Given the description of an element on the screen output the (x, y) to click on. 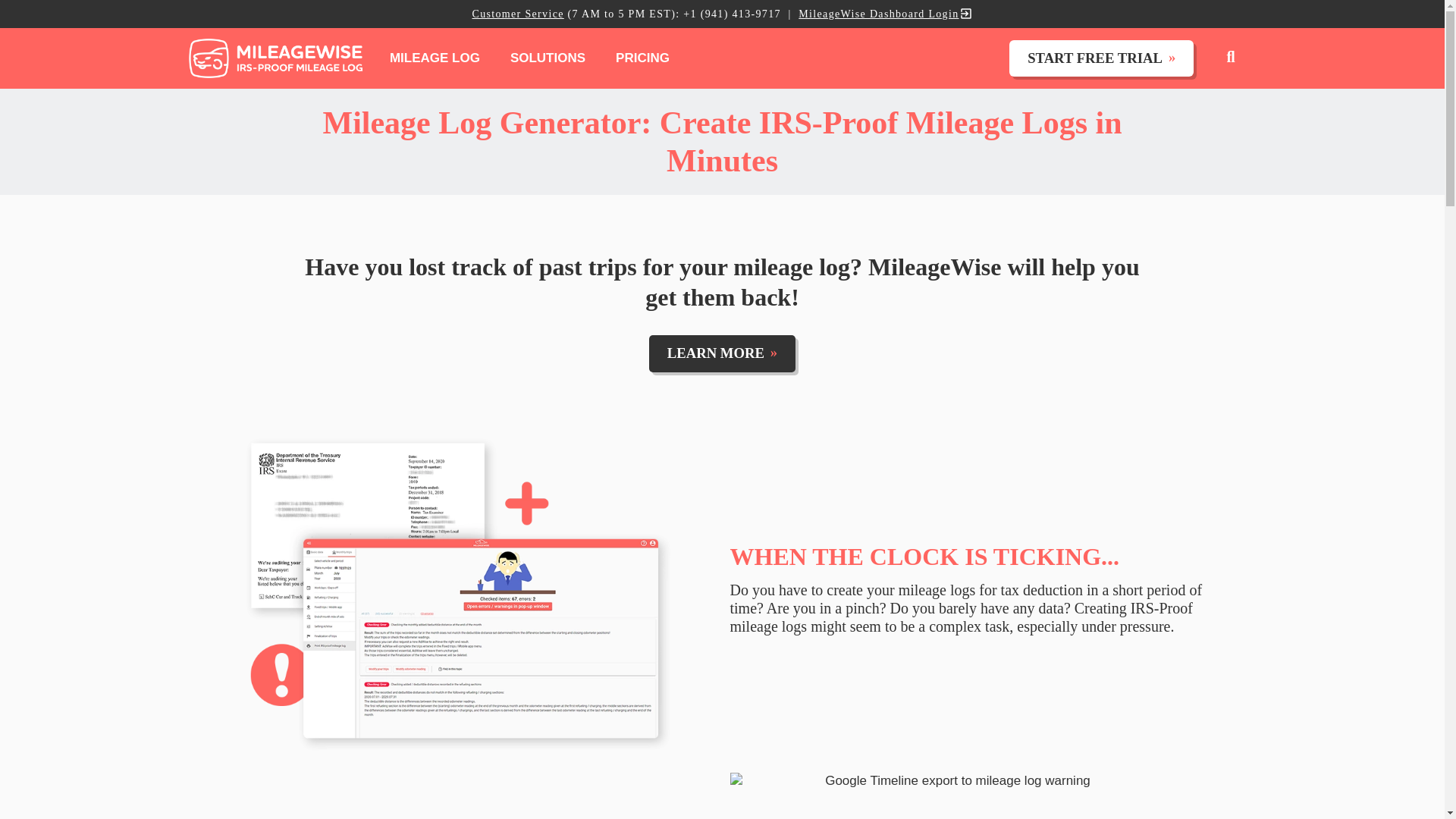
SOLUTIONS (547, 58)
PRICING (641, 58)
Customer Service (517, 13)
MILEAGE LOG (434, 58)
MileageWise Dashboard Login (884, 13)
